Given the description of an element on the screen output the (x, y) to click on. 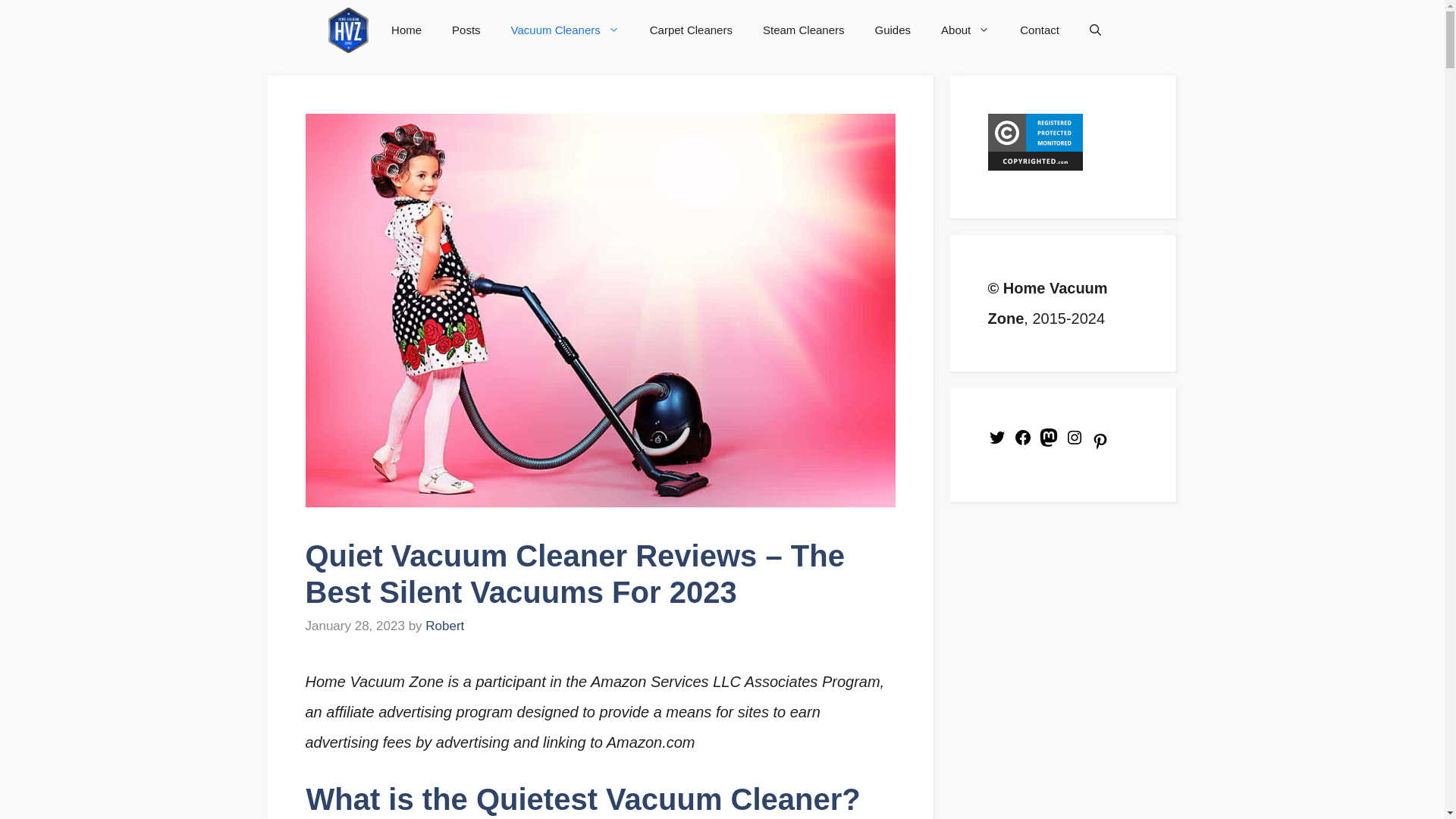
About (965, 30)
Steam Cleaners (804, 30)
View all posts by Robert (444, 626)
Contact (1039, 30)
Robert (444, 626)
Posts (466, 30)
Vacuum Cleaners (565, 30)
Carpet Cleaners (691, 30)
Home (405, 30)
Guides (893, 30)
